Given the description of an element on the screen output the (x, y) to click on. 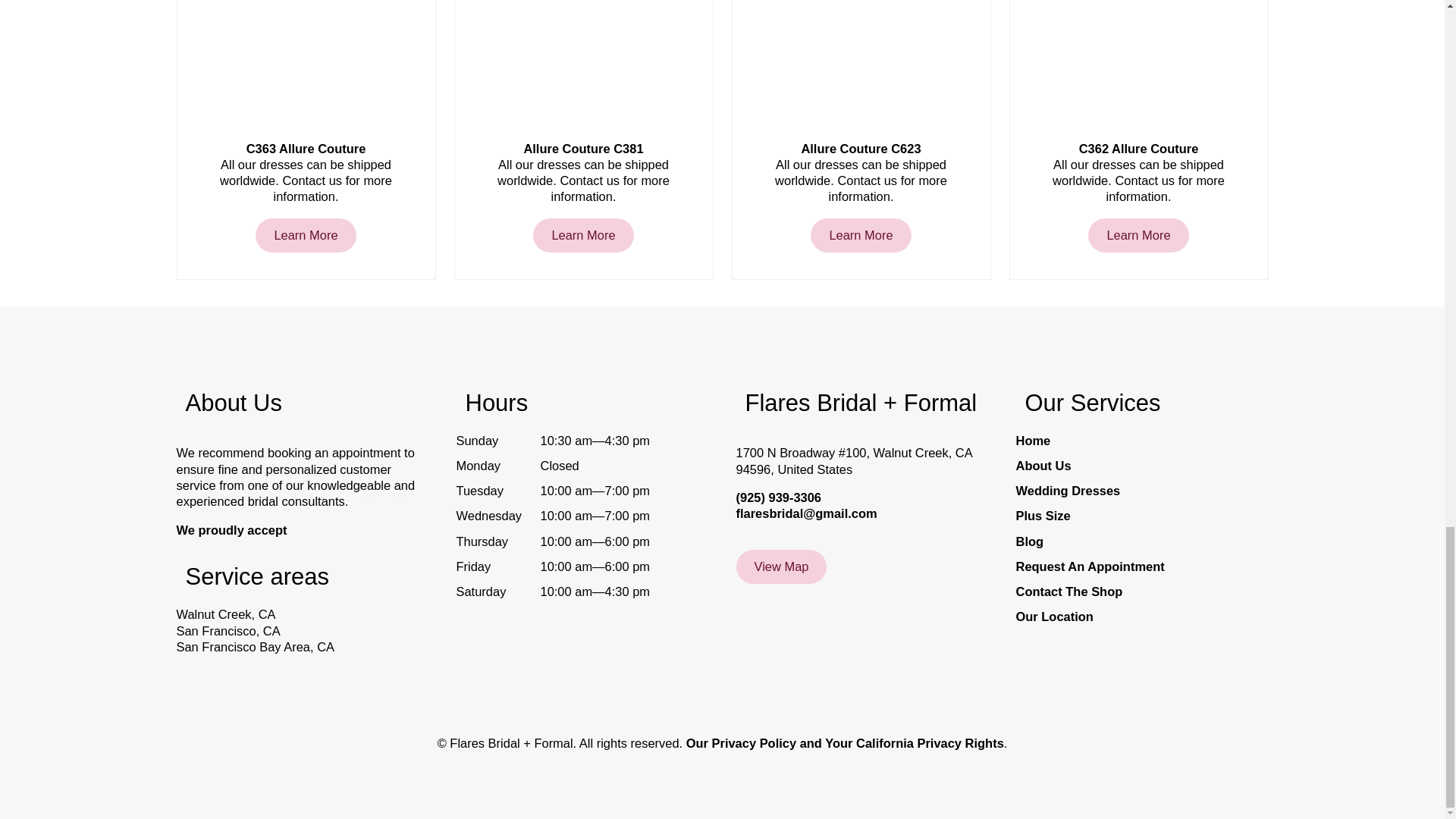
Allure Couture C623 (860, 148)
Learn More (860, 235)
Learn More (1137, 235)
GB (393, 500)
Learn More (305, 235)
Learn More (582, 235)
GSM (366, 500)
C362 Allure Couture (1138, 148)
C363 Allure Couture (305, 148)
Allure Couture C381 (583, 148)
